Given the description of an element on the screen output the (x, y) to click on. 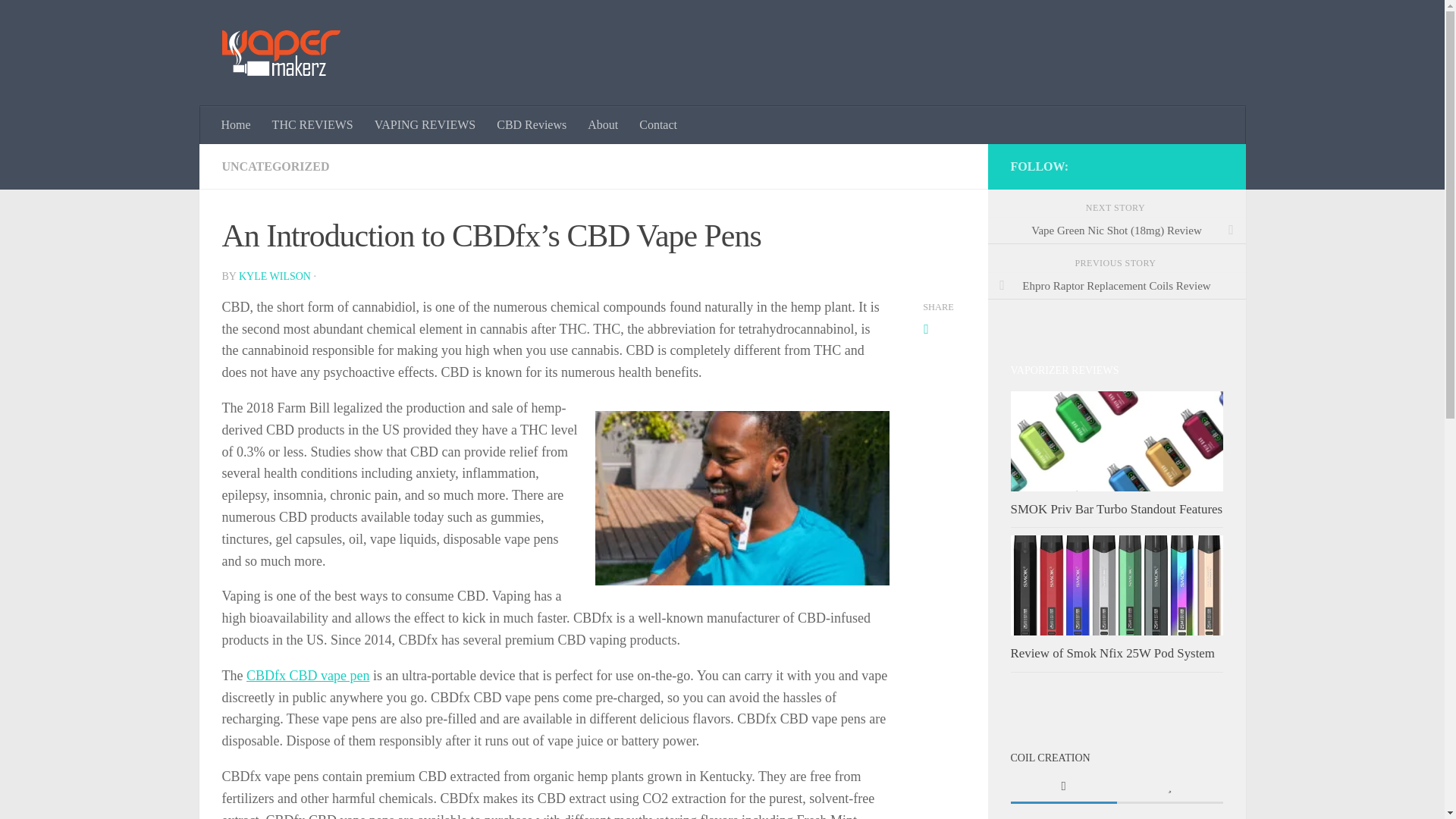
CBD Reviews (531, 125)
Home (236, 125)
CBDfx CBD vape pen (307, 675)
VAPING REVIEWS (425, 125)
Contact (657, 125)
Skip to content (59, 20)
Posts by Kyle Wilson (274, 276)
KYLE WILSON (274, 276)
THC REVIEWS (313, 125)
Recent Posts (1063, 787)
About (602, 125)
SMOK Priv Bar Turbo Standout Features (1116, 509)
Ehpro Raptor Replacement Coils Review (1115, 285)
UNCATEGORIZED (275, 165)
Popular Posts (1169, 787)
